Given the description of an element on the screen output the (x, y) to click on. 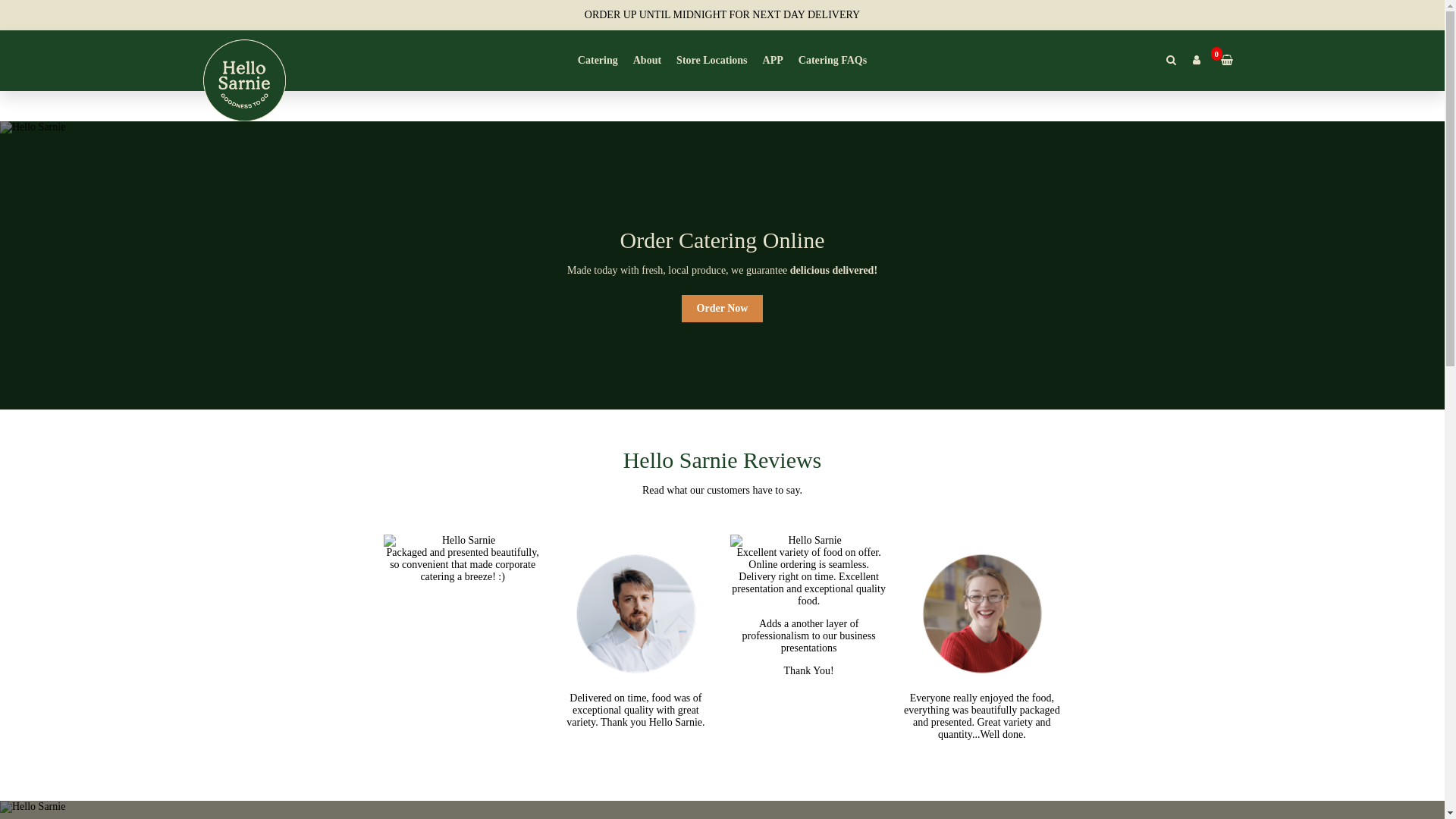
cart summary
0
0 items in cart Element type: text (1223, 60)
Catering Element type: text (597, 60)
APP Element type: text (772, 60)
Search Element type: hover (1171, 60)
Order Now Element type: text (722, 308)
Sign In Element type: hover (1196, 60)
Store Locations Element type: text (711, 60)
About Element type: text (646, 60)
Catering FAQs Element type: text (832, 60)
